Given the description of an element on the screen output the (x, y) to click on. 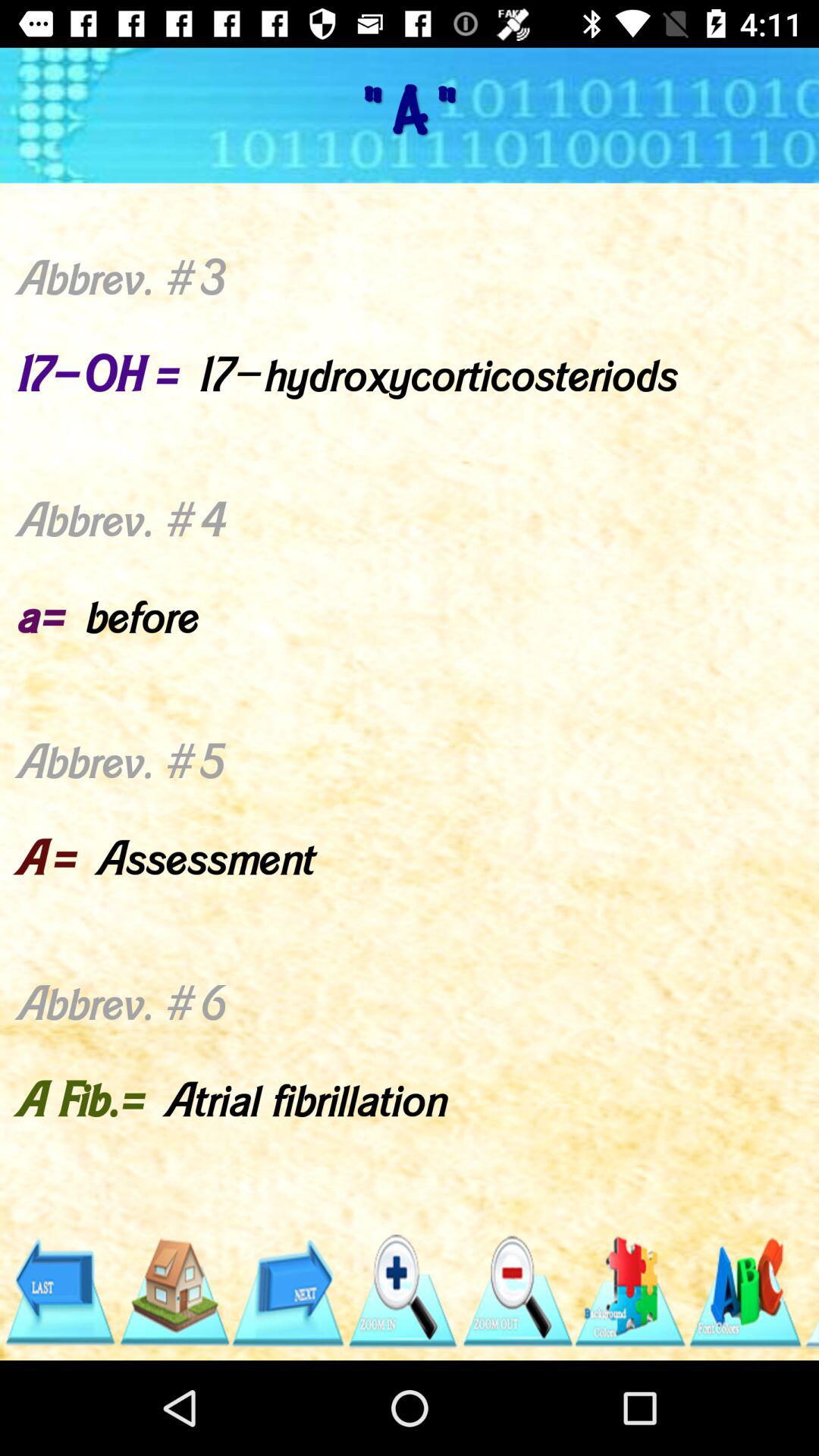
abc tab (745, 1291)
